Given the description of an element on the screen output the (x, y) to click on. 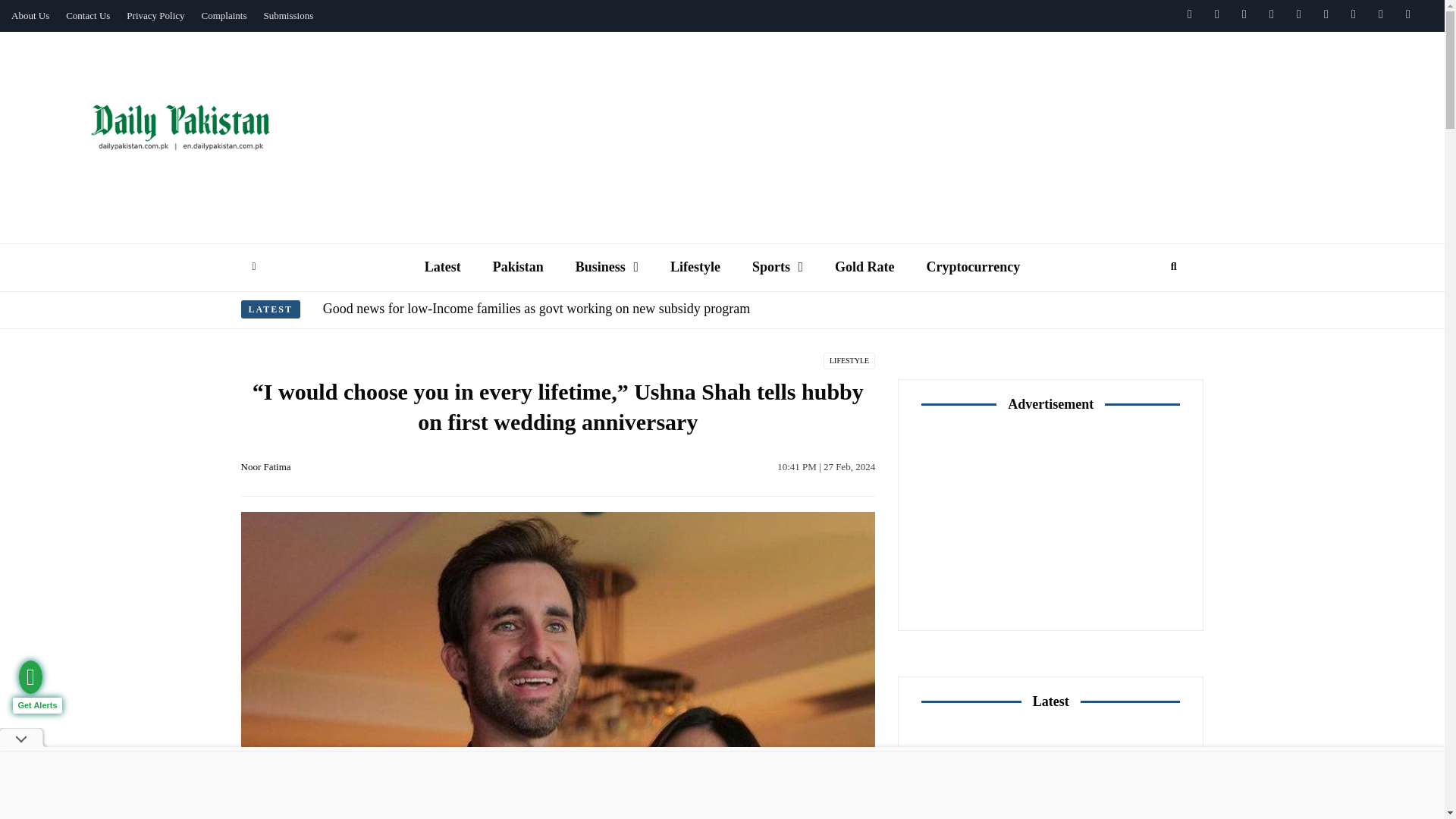
3rd party ad content (1050, 520)
Submissions (288, 15)
3rd party ad content (903, 73)
Complaints (224, 15)
Business (606, 266)
Contact Us (87, 15)
Privacy Policy (155, 15)
Lifestyle (694, 266)
Latest (443, 266)
Pakistan (518, 266)
About Us (30, 15)
Sports (777, 266)
